Given the description of an element on the screen output the (x, y) to click on. 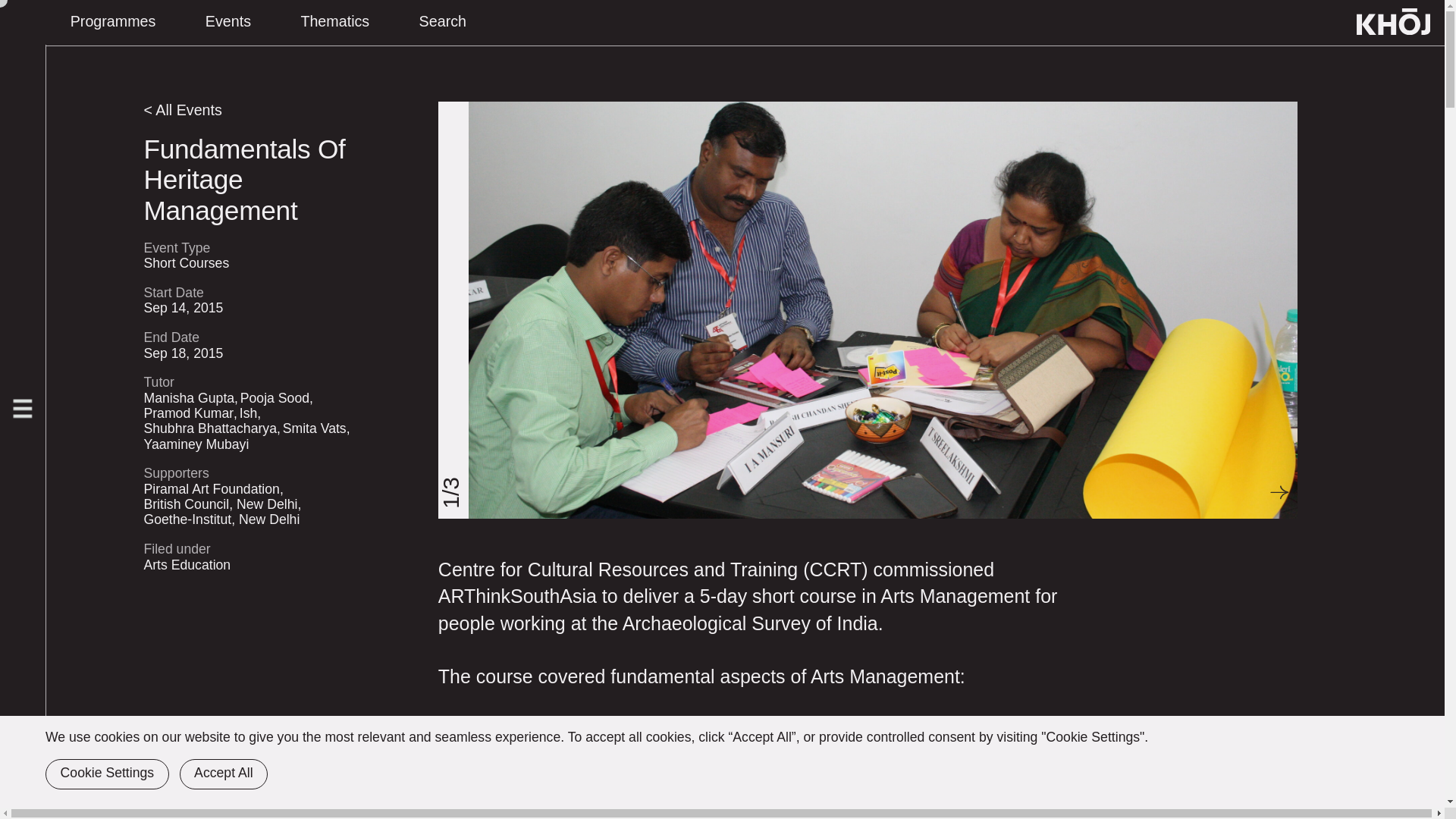
Ish (248, 412)
Tutor (158, 381)
Yaaminey Mubayi (195, 444)
Programmes (112, 23)
Events (228, 23)
Thematics (335, 23)
All Events (188, 109)
Pramod Kumar (187, 412)
Shubhra Bhattacharya (209, 427)
Search (443, 23)
Smita Vats (314, 427)
Manisha Gupta (188, 397)
Pooja Sood (274, 397)
Short Courses (185, 263)
